Given the description of an element on the screen output the (x, y) to click on. 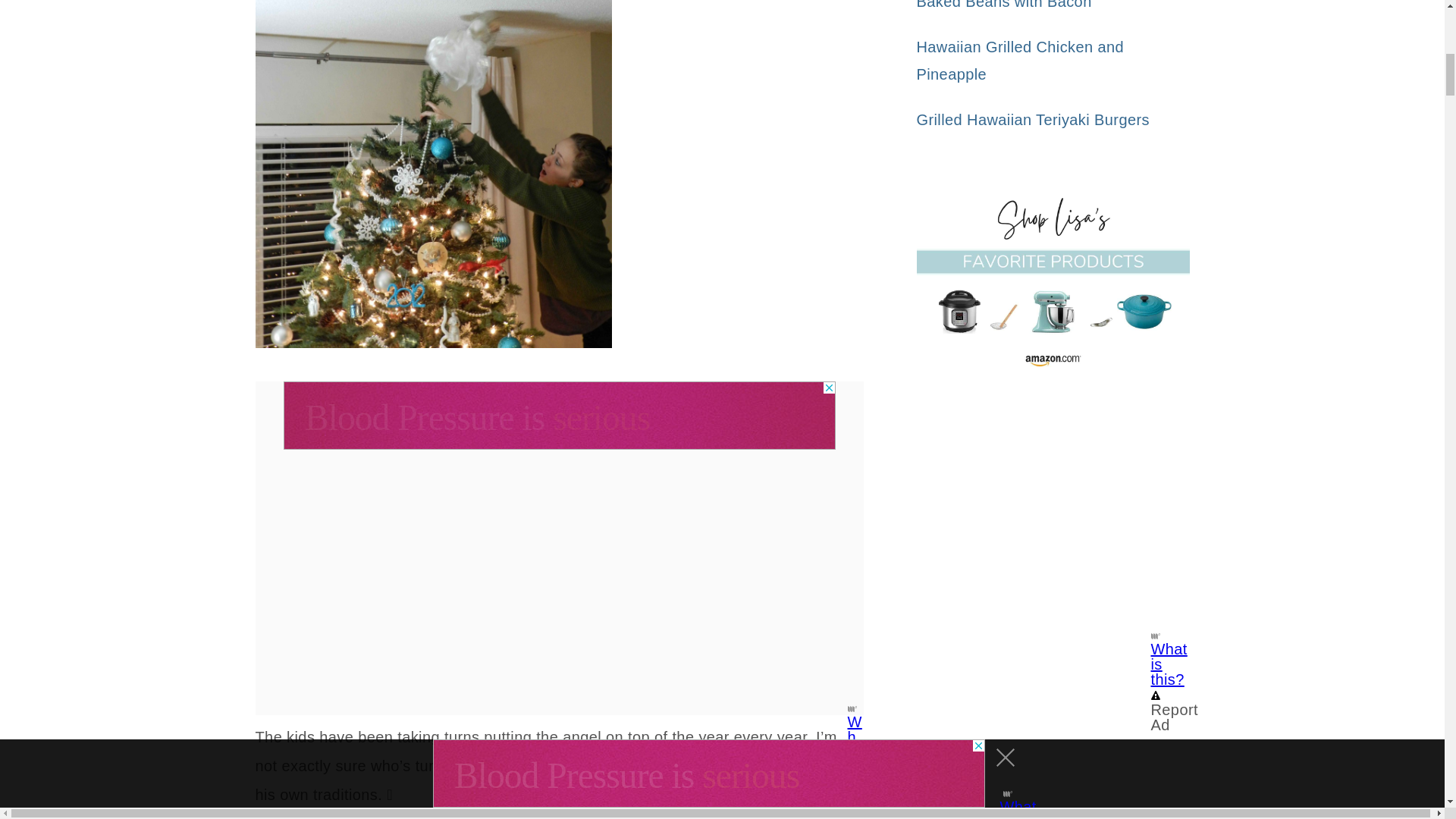
3rd party ad content (559, 415)
3rd party ad content (1052, 531)
